Given the description of an element on the screen output the (x, y) to click on. 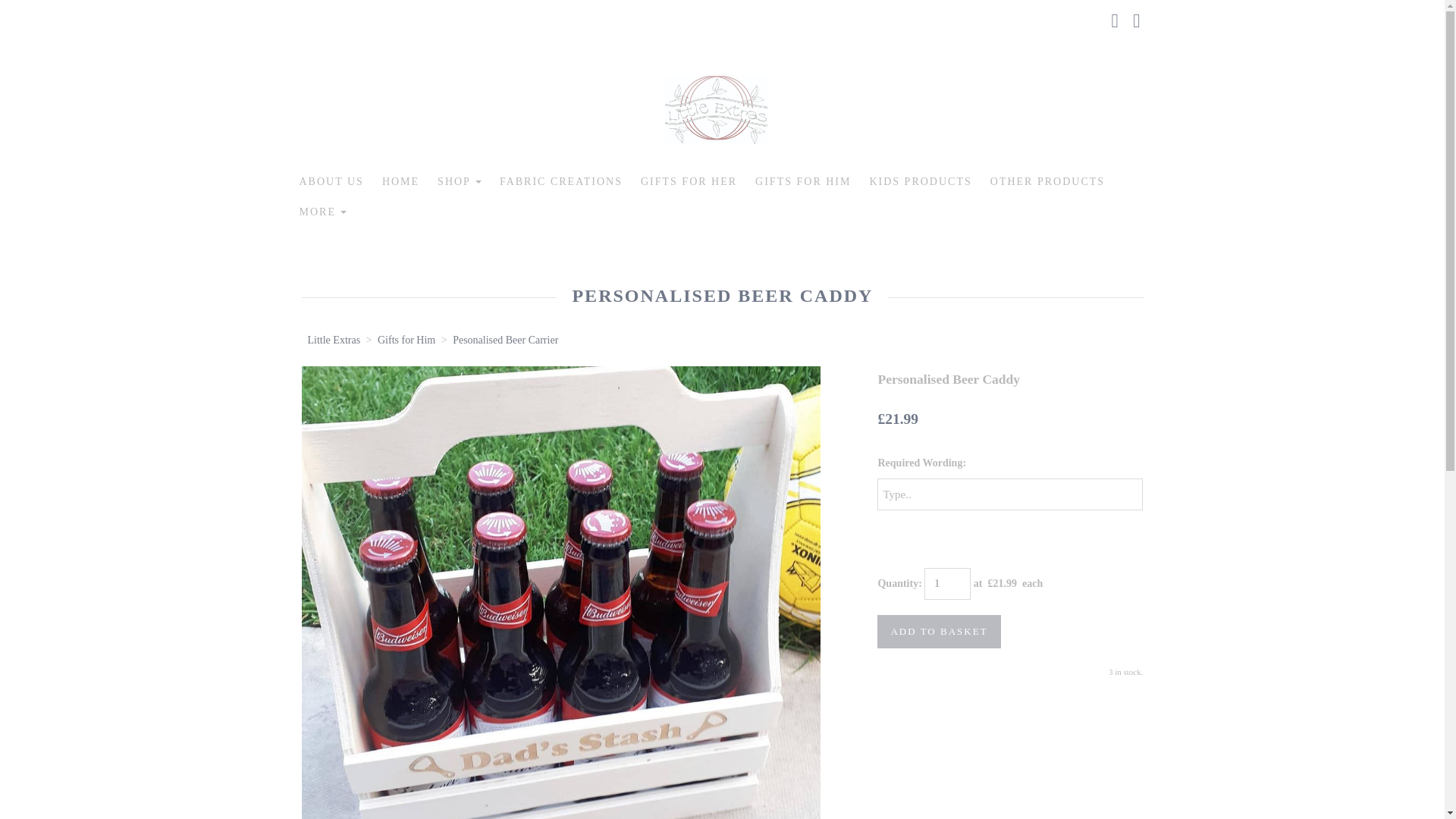
Gifts for Him (406, 339)
GIFTS FOR HIM (802, 182)
ADD TO BASKET (938, 631)
1 (947, 583)
OTHER PRODUCTS (1047, 182)
FABRIC CREATIONS (560, 182)
HOME (400, 182)
ABOUT US (330, 182)
GIFTS FOR HER (688, 182)
